Given the description of an element on the screen output the (x, y) to click on. 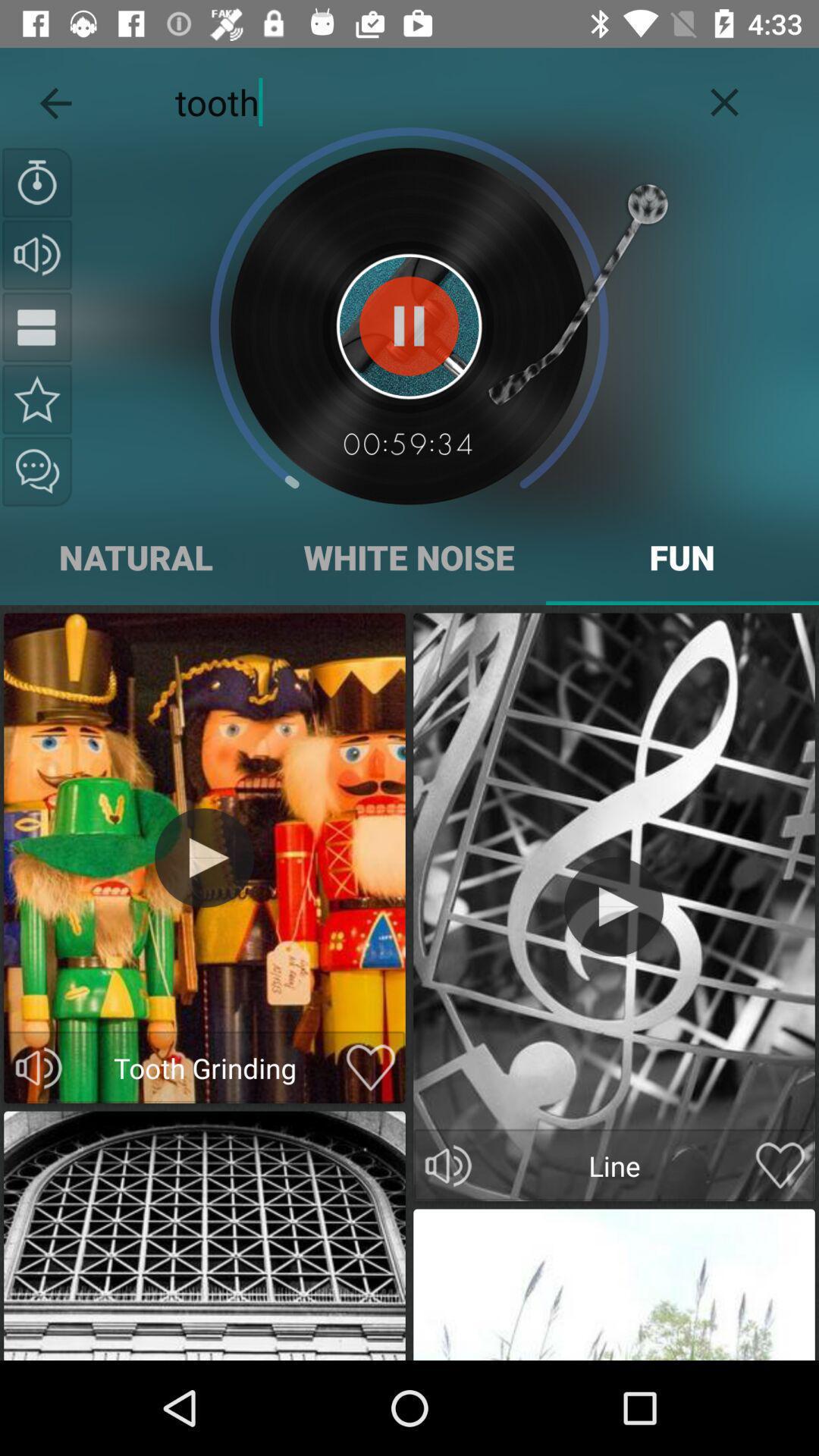
volume control (38, 1068)
